Given the description of an element on the screen output the (x, y) to click on. 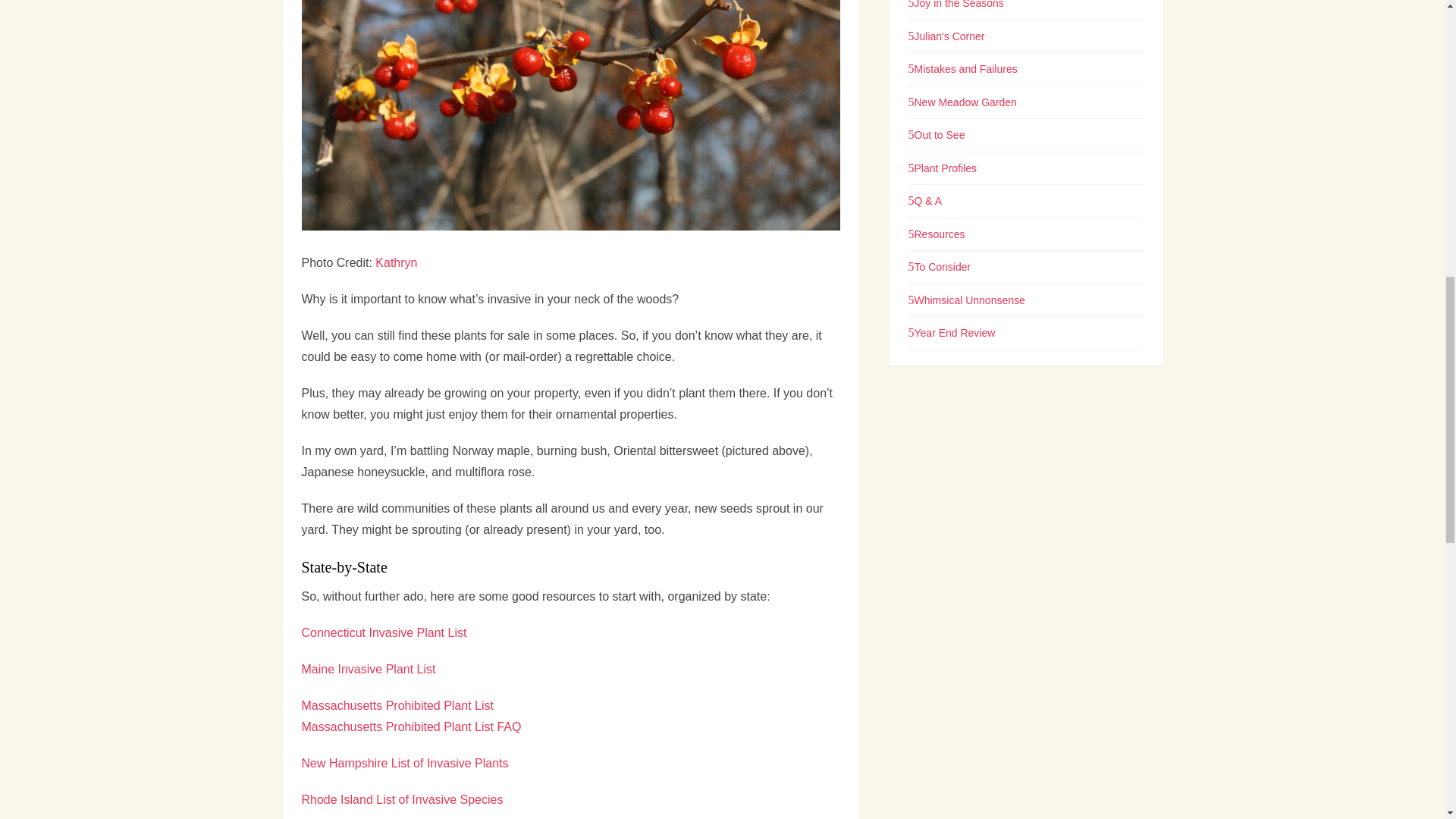
Massachusetts Prohibited Plant List (397, 705)
Julian's Corner (946, 36)
Kathryn (395, 262)
Massachusetts Prohibited Plant List FAQ (411, 726)
Maine Invasive Plant List (368, 668)
New Meadow Garden (962, 102)
Rhode Island List of Invasive Species (402, 799)
Out to See (936, 134)
Connecticut Invasive Plant List (384, 632)
Plant Profiles (942, 168)
New Hampshire List of Invasive Plants (404, 762)
Joy in the Seasons (956, 4)
Mistakes and Failures (962, 69)
